Given the description of an element on the screen output the (x, y) to click on. 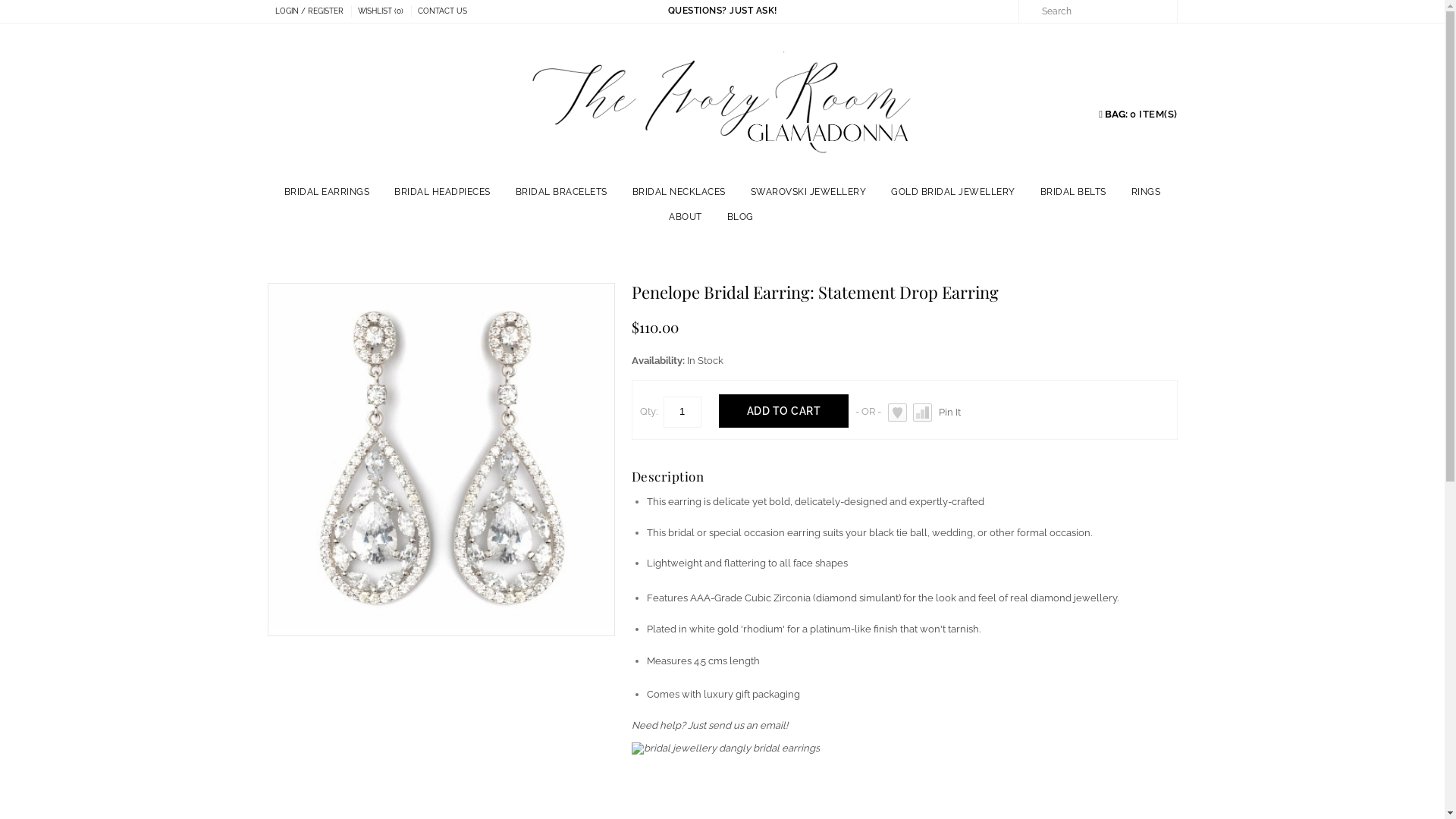
BLOG Element type: text (740, 216)
SWAROVSKI JEWELLERY Element type: text (808, 191)
WISHLIST (0) Element type: text (384, 11)
The Ivory Room Element type: hover (722, 104)
BAG: 0 ITEM(S) Element type: text (1137, 113)
ABOUT Element type: text (685, 216)
Pin It Element type: text (949, 411)
QUESTIONS? JUST ASK! Element type: text (721, 10)
Description Element type: text (666, 476)
Add to Compare Element type: text (922, 412)
RINGS Element type: text (1145, 191)
BRIDAL EARRINGS Element type: text (326, 191)
CONTACT US Element type: text (445, 11)
BRIDAL HEADPIECES Element type: text (442, 191)
BRIDAL NECKLACES Element type: text (678, 191)
BRIDAL BRACELETS Element type: text (561, 191)
LOGIN / REGISTER Element type: text (312, 11)
GOLD BRIDAL JEWELLERY Element type: text (952, 191)
Add to Wish List Element type: text (897, 412)
Penelope Bridal Earring: Statement Drop Earring Element type: hover (441, 456)
Penelope Bridal Earring: Statement Drop Earring Element type: hover (441, 625)
BRIDAL BELTS Element type: text (1072, 191)
